Given the description of an element on the screen output the (x, y) to click on. 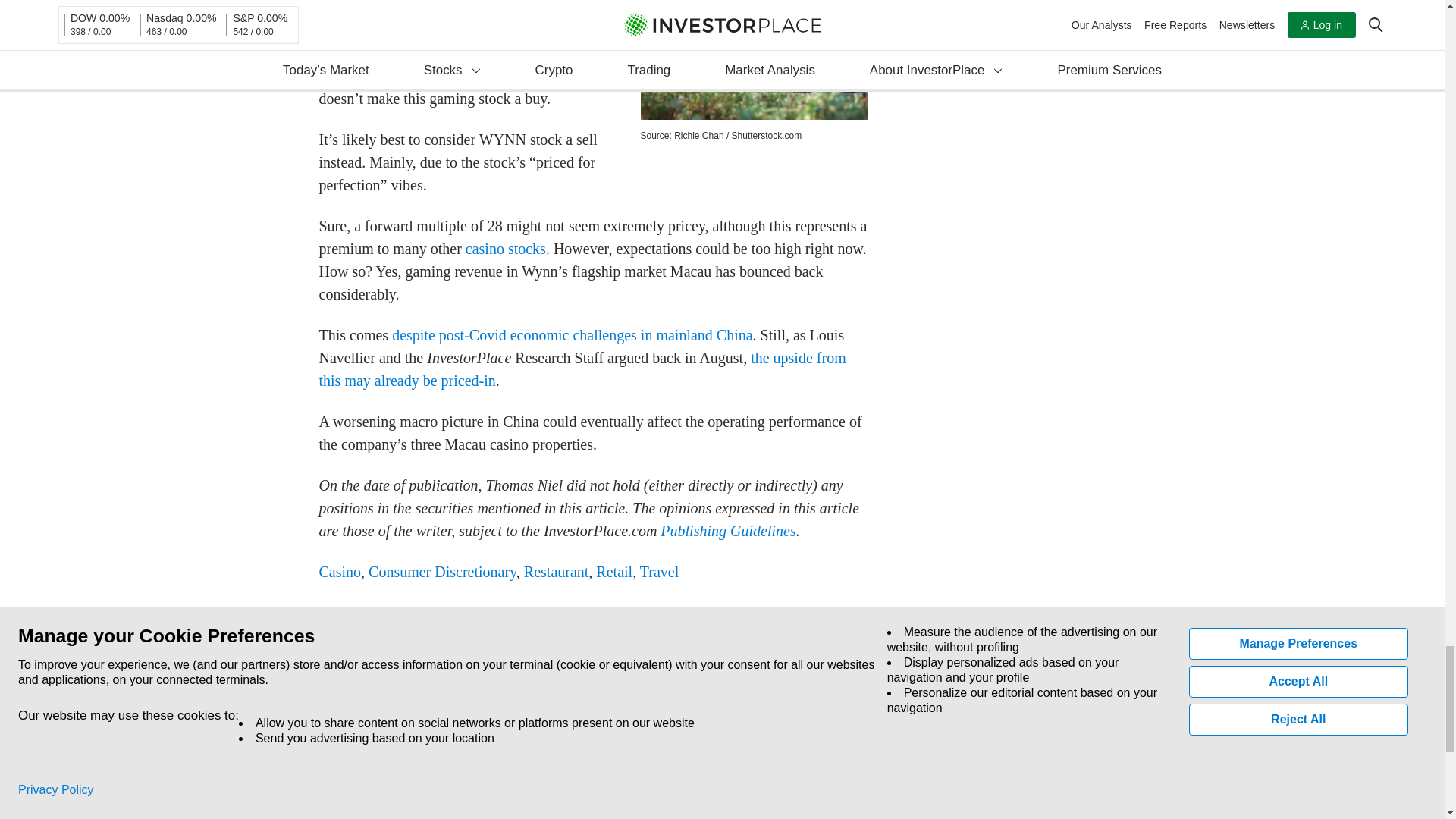
Articles from Consumer Discretionary industry (442, 571)
Articles from Retail industry (613, 571)
Earnings: Why Stocks Will Soar After Their Nasty Selloff (812, 764)
Articles from Restaurant industry (556, 571)
View profile of Luke Lango (407, 782)
Articles from Casino industry (339, 571)
Articles from Travel industry (659, 571)
